Given the description of an element on the screen output the (x, y) to click on. 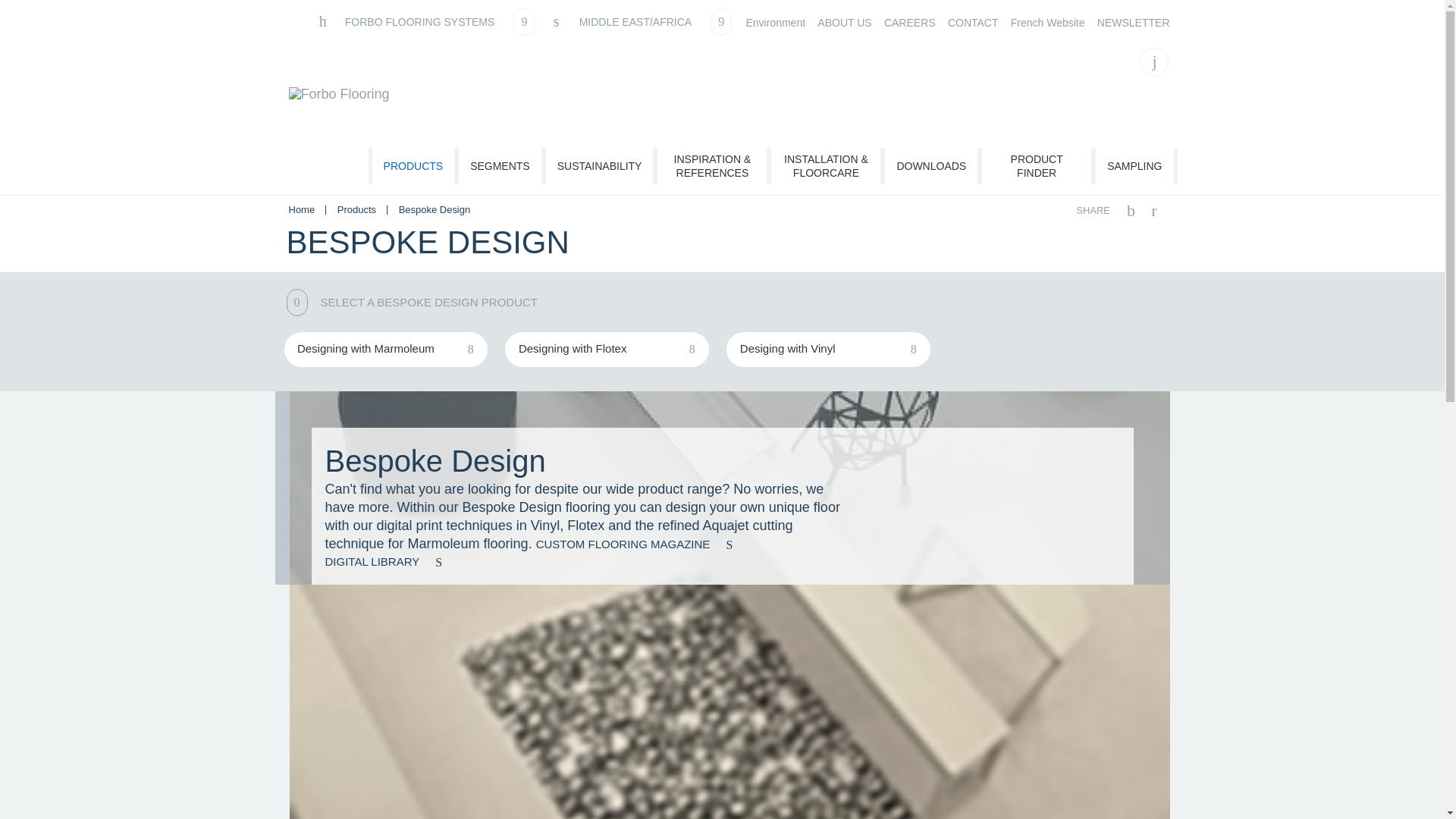
CUSTOM FLOORING MAGAZINE (639, 544)
CAREERS (909, 23)
Home (302, 209)
NEWSLETTER (1133, 23)
PRODUCT FINDER (1036, 166)
ABOUT US (843, 23)
French Website (1047, 23)
FORBO FLOORING SYSTEMS (425, 22)
Desiging with Vinyl (828, 349)
Designing with Marmoleum (384, 349)
